Given the description of an element on the screen output the (x, y) to click on. 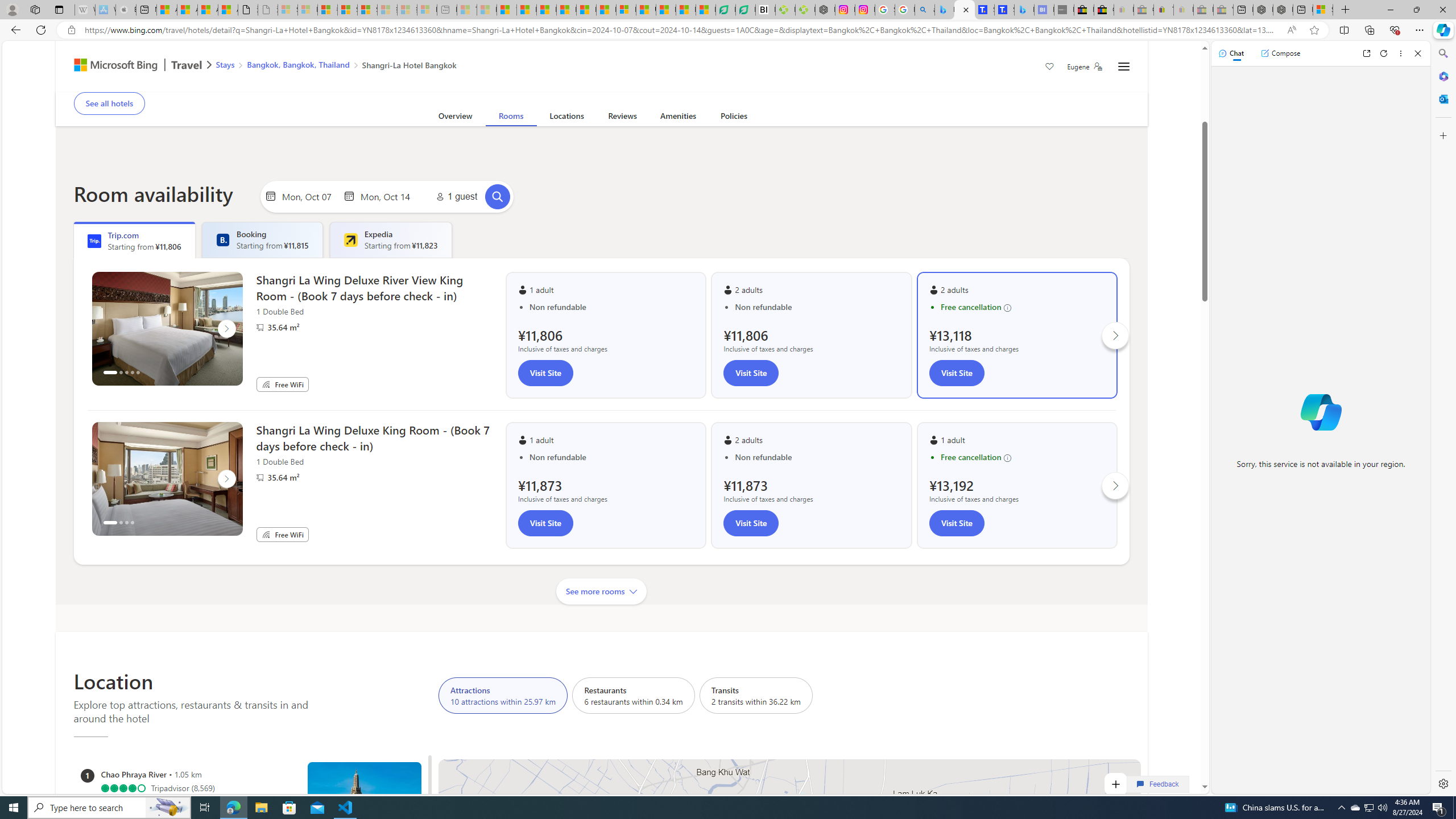
LendingTree - Compare Lenders (745, 9)
Click to scroll right (1115, 485)
Nvidia va a poner a prueba la paciencia de los inversores (765, 9)
Free WiFi (265, 533)
Top Stories - MSN - Sleeping (466, 9)
Locations (566, 118)
Microsoft Services Agreement - Sleeping (306, 9)
Chat (1231, 52)
Buy iPad - Apple - Sleeping (125, 9)
